Given the description of an element on the screen output the (x, y) to click on. 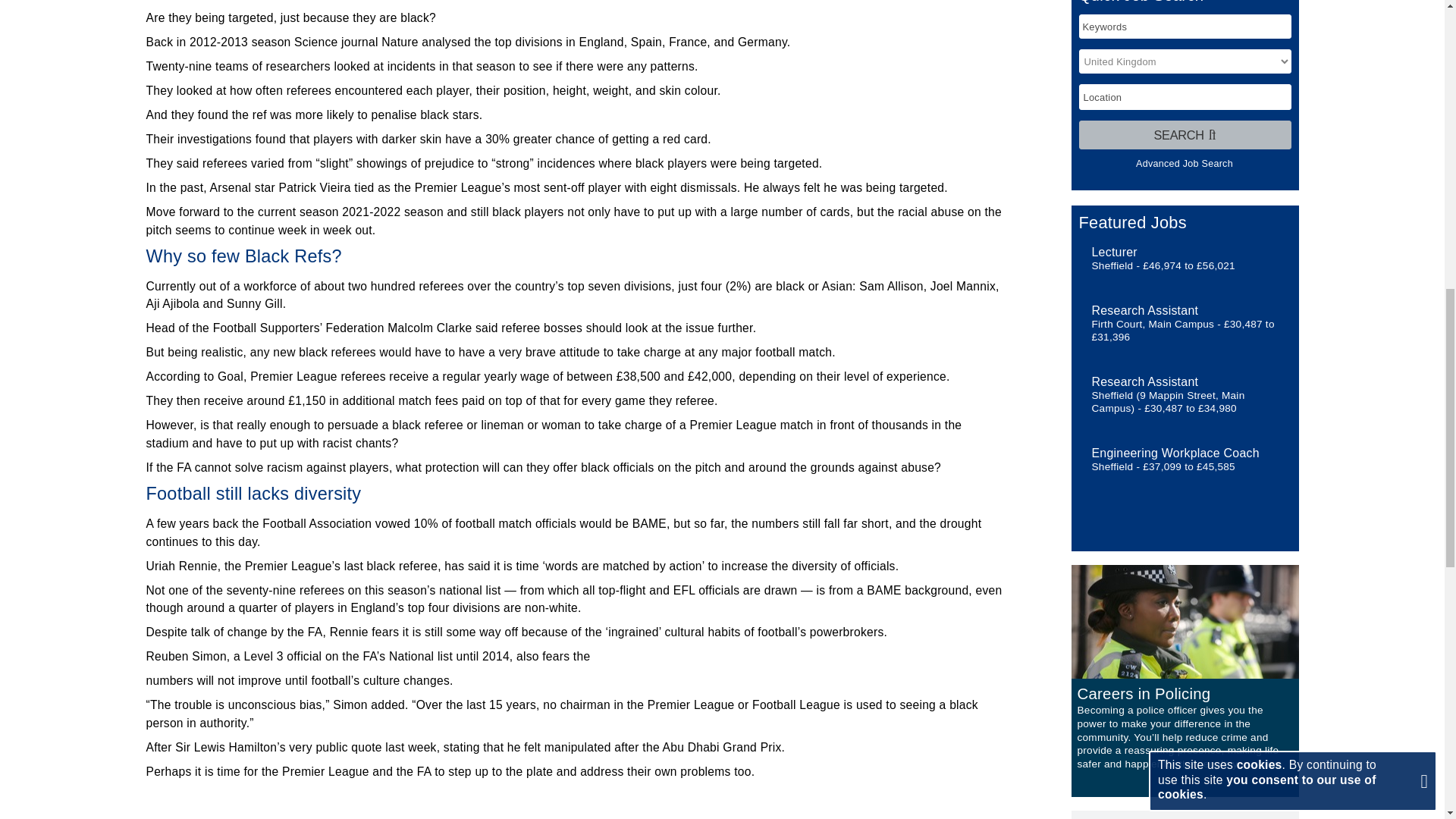
Engineering Workplace Coach (1175, 452)
Research Assistant (1145, 381)
Lecturer (1114, 251)
Keywords (1185, 26)
Research Assistant (1145, 309)
